Given the description of an element on the screen output the (x, y) to click on. 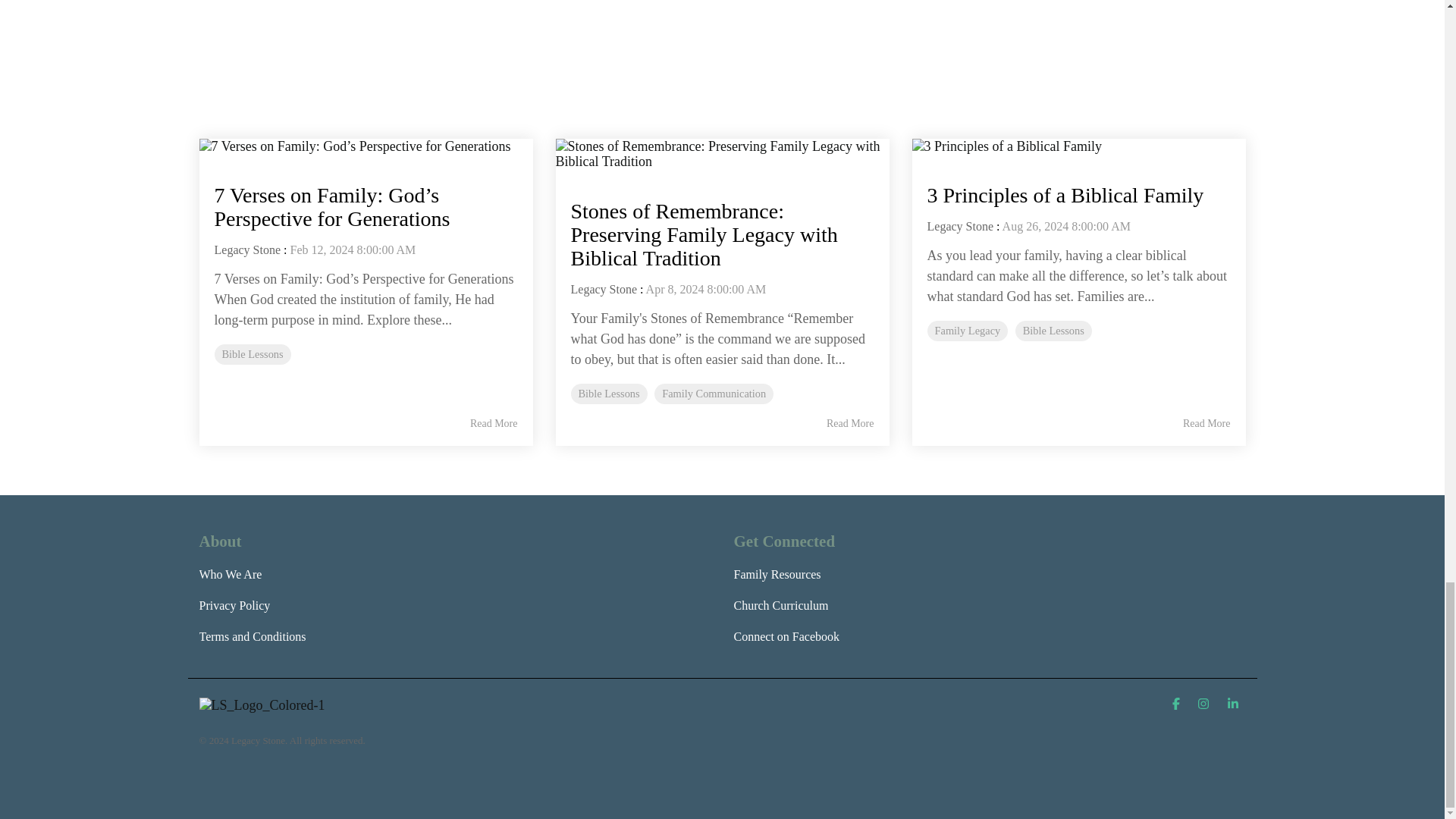
Legacy Stone (247, 249)
Read More (494, 423)
Bible Lessons (251, 353)
Family Communication (713, 394)
Bible Lessons (608, 394)
Legacy Stone (603, 288)
